Given the description of an element on the screen output the (x, y) to click on. 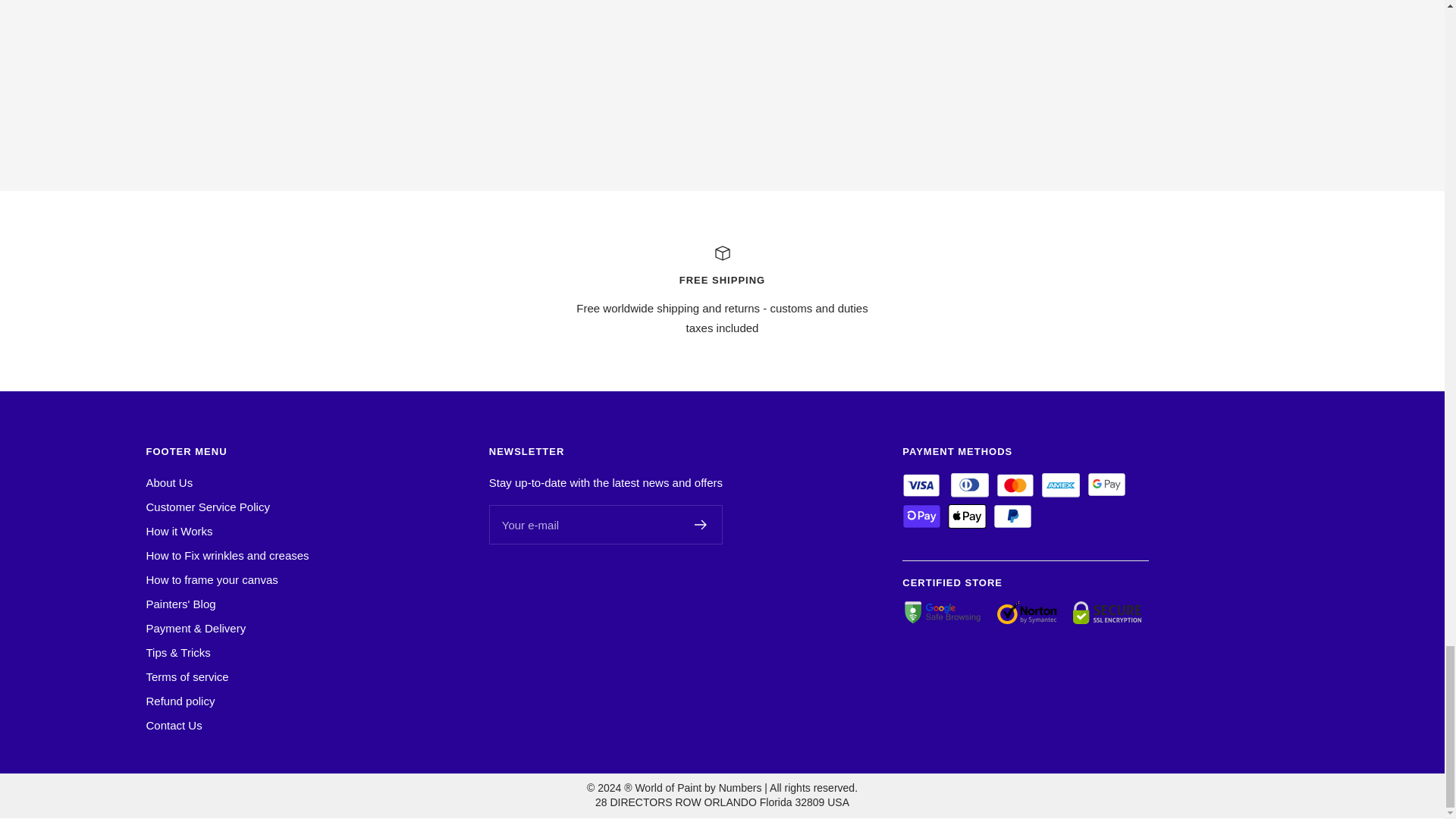
Register (700, 524)
